Given the description of an element on the screen output the (x, y) to click on. 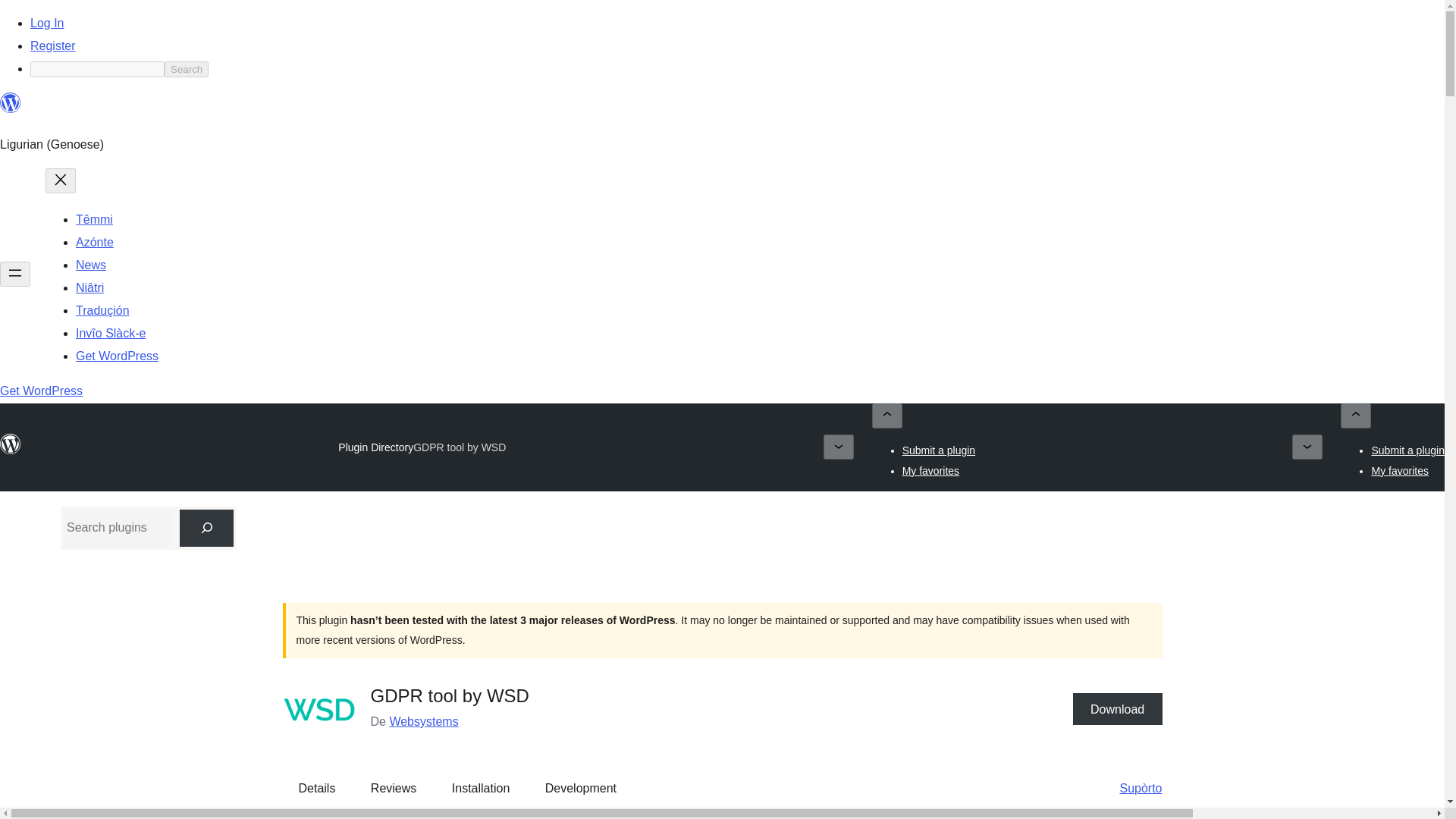
Websystems (423, 721)
Get WordPress (41, 390)
GDPR tool by WSD (459, 447)
Plugin Directory (375, 447)
My favorites (1399, 469)
Installation (480, 788)
My favorites (930, 469)
WordPress.org (10, 109)
Development (580, 788)
Search (186, 68)
WordPress.org (10, 444)
Details (316, 788)
News (90, 264)
WordPress.org (10, 102)
Log In (47, 22)
